Given the description of an element on the screen output the (x, y) to click on. 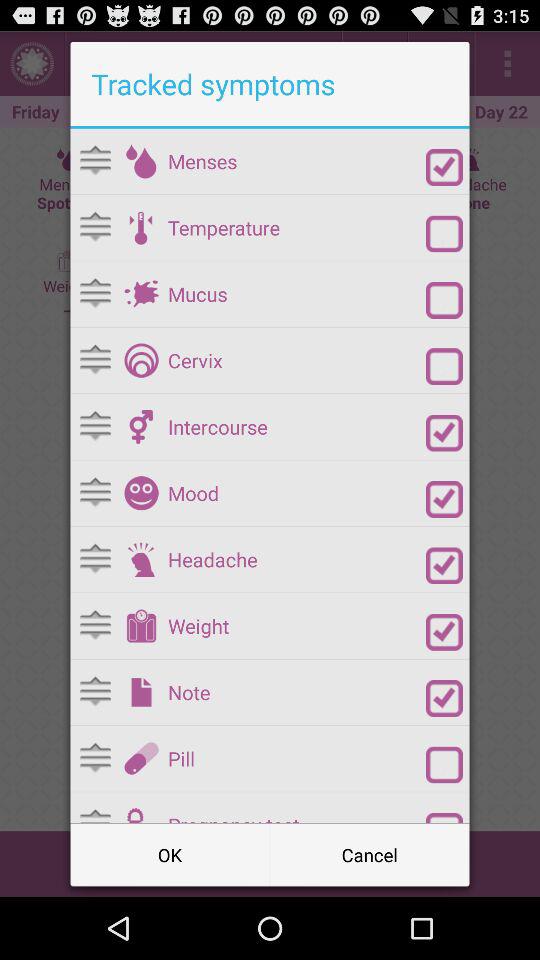
check toggle (444, 499)
